Given the description of an element on the screen output the (x, y) to click on. 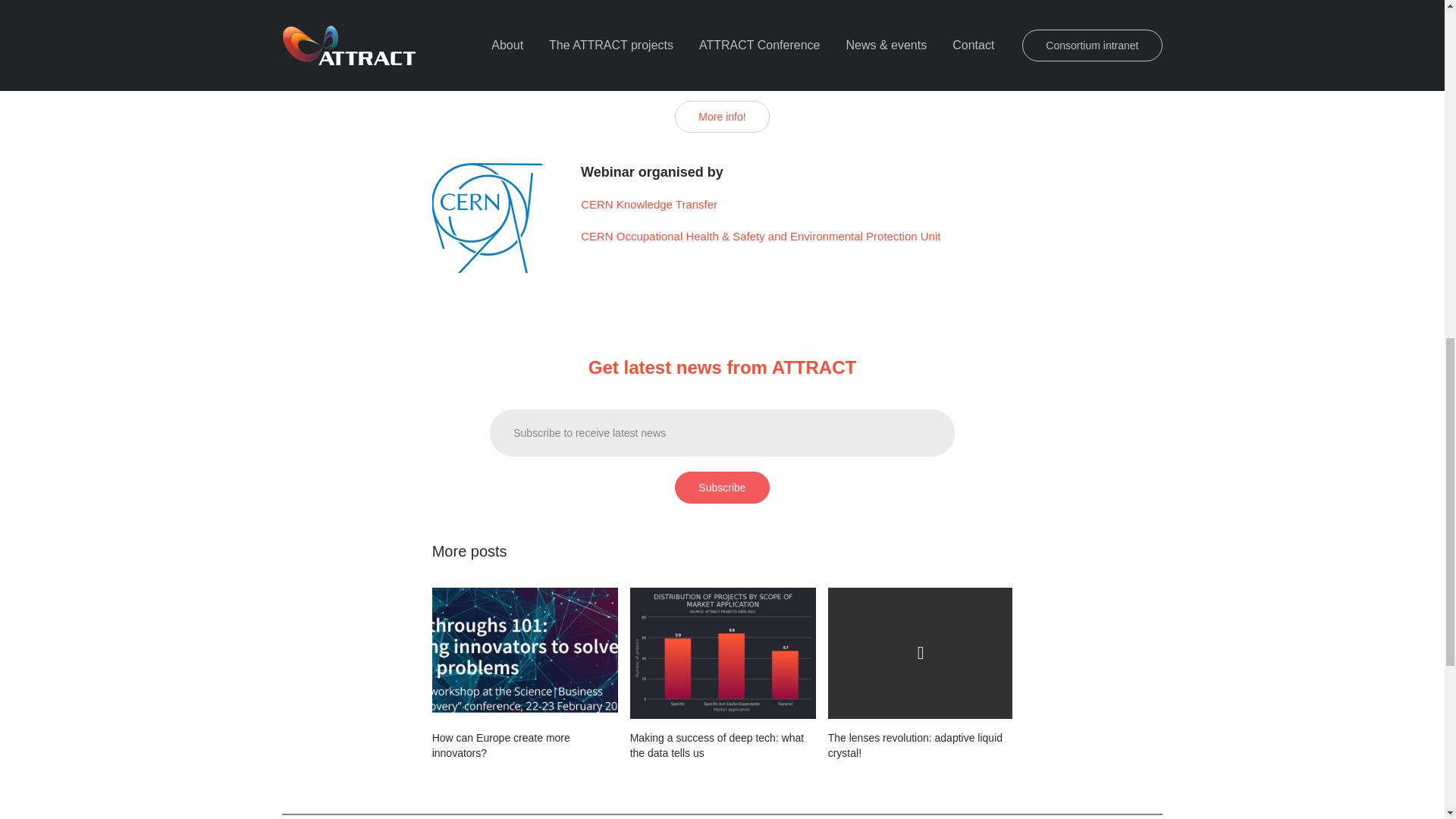
The lenses revolution: adaptive liquid crystal! (920, 653)
More info! (721, 116)
How can Europe create more innovators? (501, 745)
How can Europe create more innovators? (524, 653)
Subscribe (721, 487)
Making a success of deep tech: what the data tells us (717, 745)
The lenses revolution: adaptive liquid crystal! (915, 745)
Subscribe (721, 487)
CERN Knowledge Transfer  (650, 204)
Making a success of deep tech: what the data tells us (722, 653)
